Given the description of an element on the screen output the (x, y) to click on. 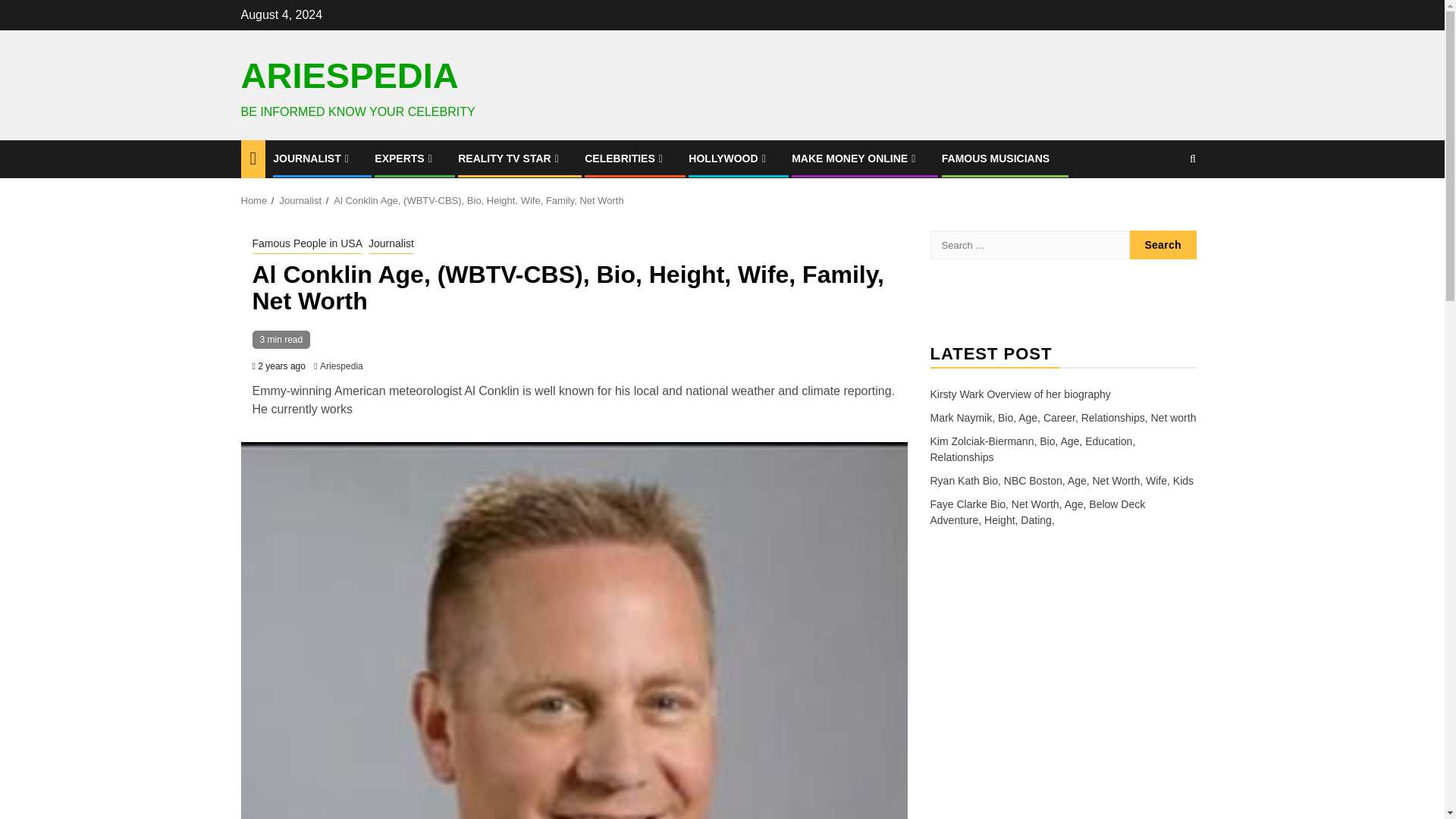
Journalist (390, 244)
Search (1163, 205)
Search (1162, 244)
Famous People in USA (306, 244)
EXPERTS (404, 157)
MAKE MONEY ONLINE (855, 157)
HOLLYWOOD (728, 157)
REALITY TV STAR (510, 157)
Search (1162, 244)
JOURNALIST (312, 157)
Home (254, 199)
Journalist (300, 199)
Ariespedia (341, 366)
FAMOUS MUSICIANS (995, 157)
ARIESPEDIA (349, 75)
